Given the description of an element on the screen output the (x, y) to click on. 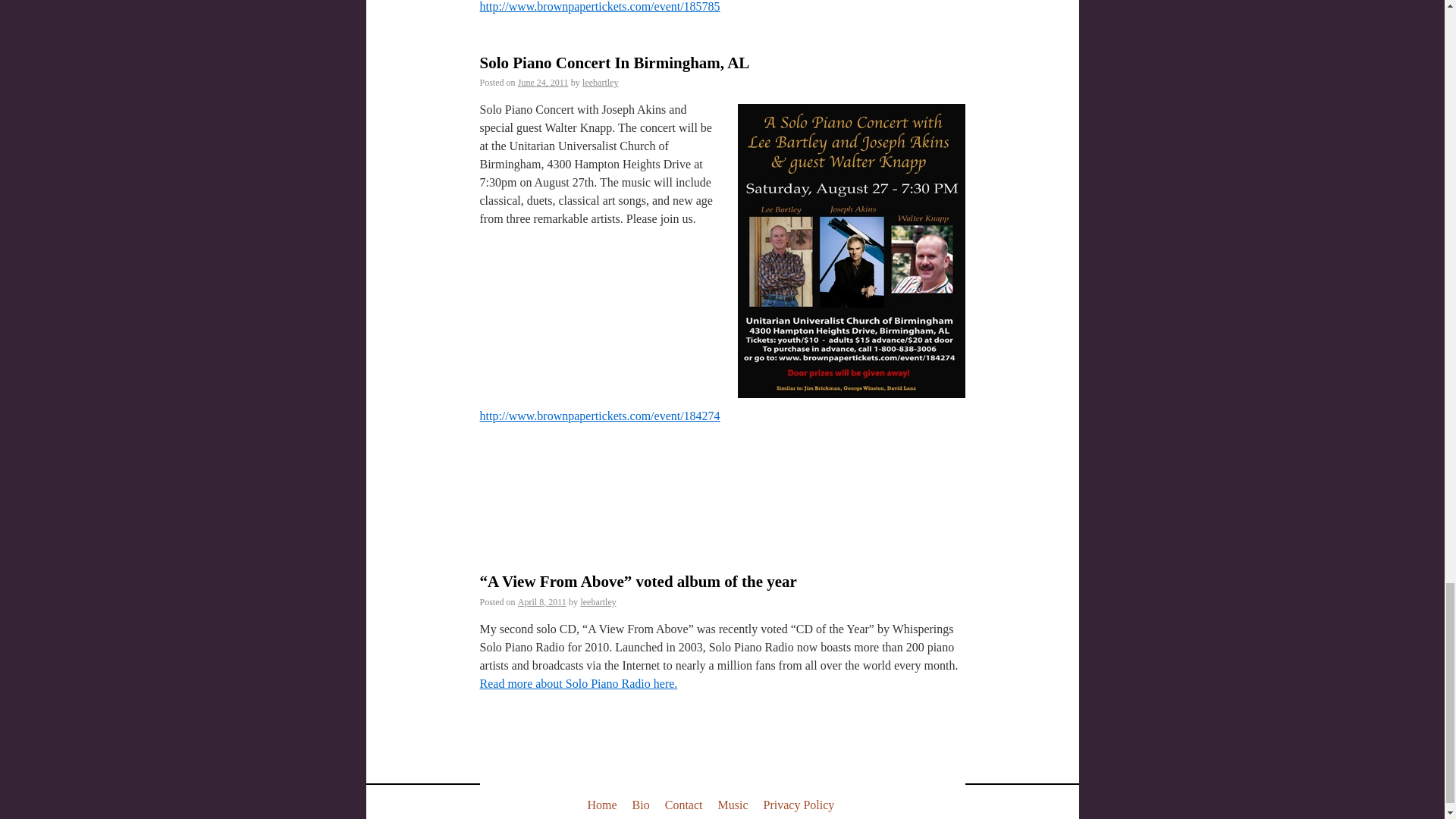
leebartley (599, 81)
Solo Piano Concert In Birmingham, AL (614, 63)
June 24, 2011 (543, 81)
